Given the description of an element on the screen output the (x, y) to click on. 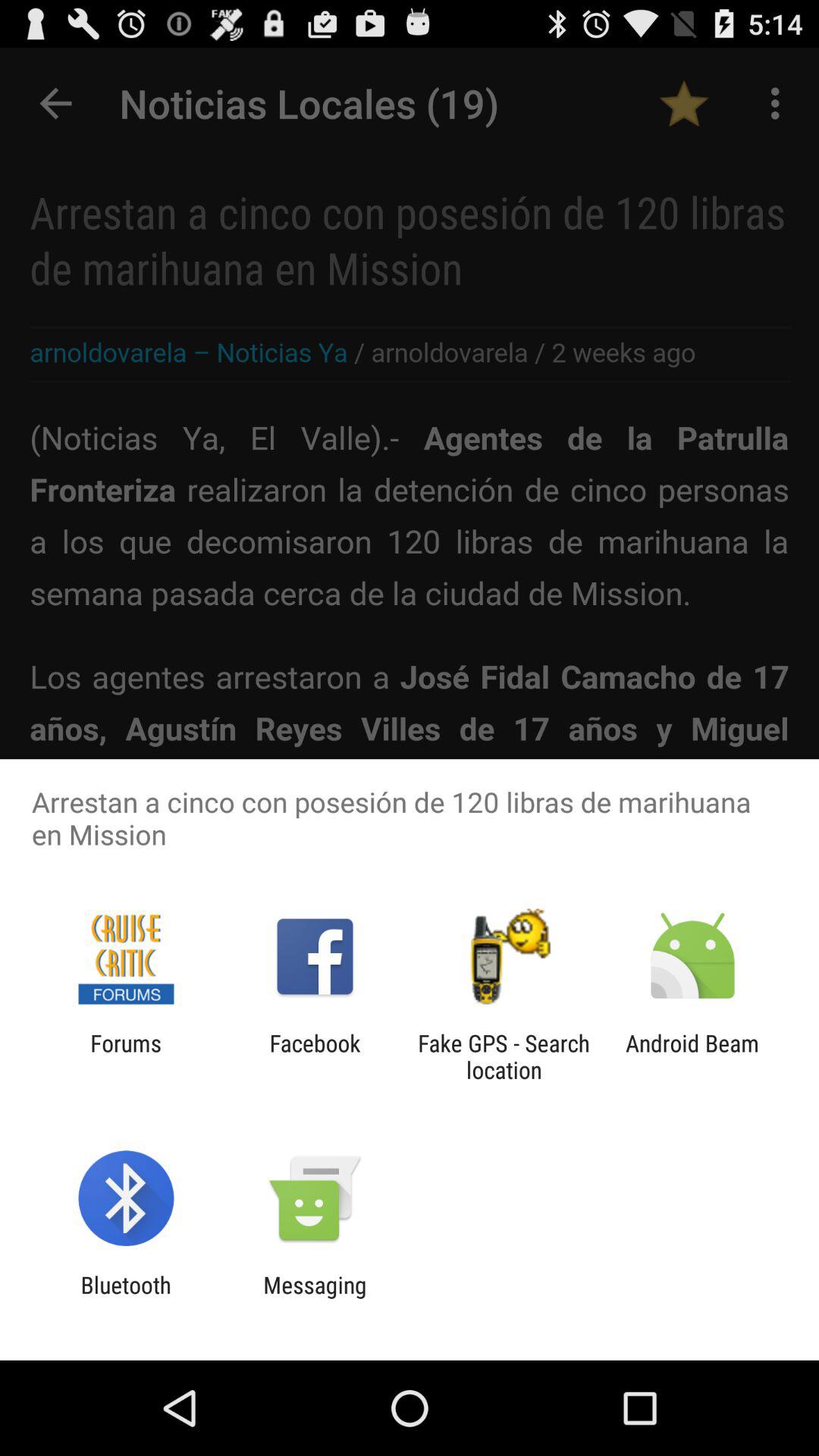
scroll to android beam app (692, 1056)
